Given the description of an element on the screen output the (x, y) to click on. 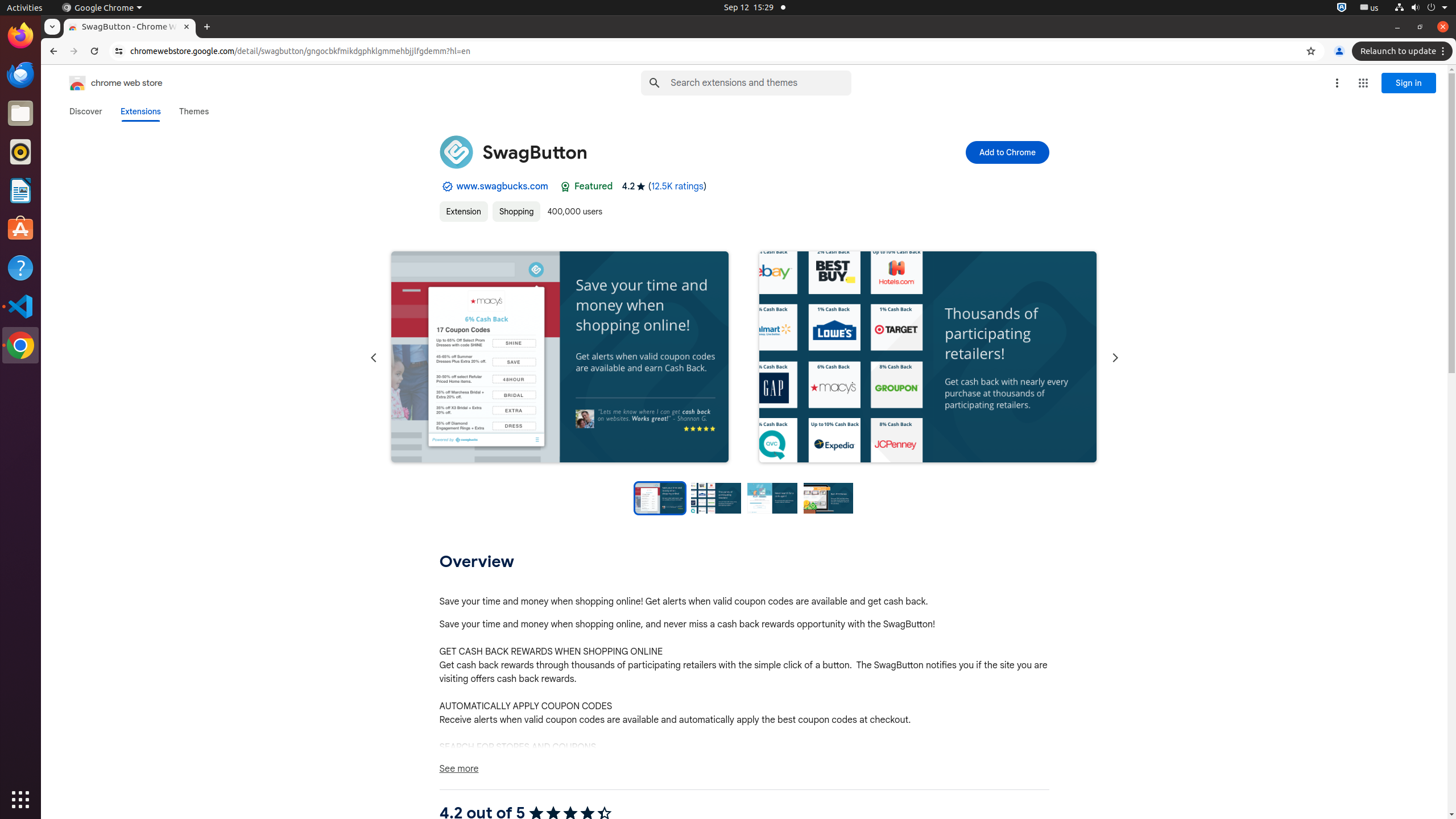
By Established Publisher Badge Element type: push-button (447, 186)
Show Applications Element type: toggle-button (20, 799)
You Element type: push-button (1339, 50)
New Tab Element type: push-button (206, 26)
Google apps Element type: push-button (1362, 82)
